Given the description of an element on the screen output the (x, y) to click on. 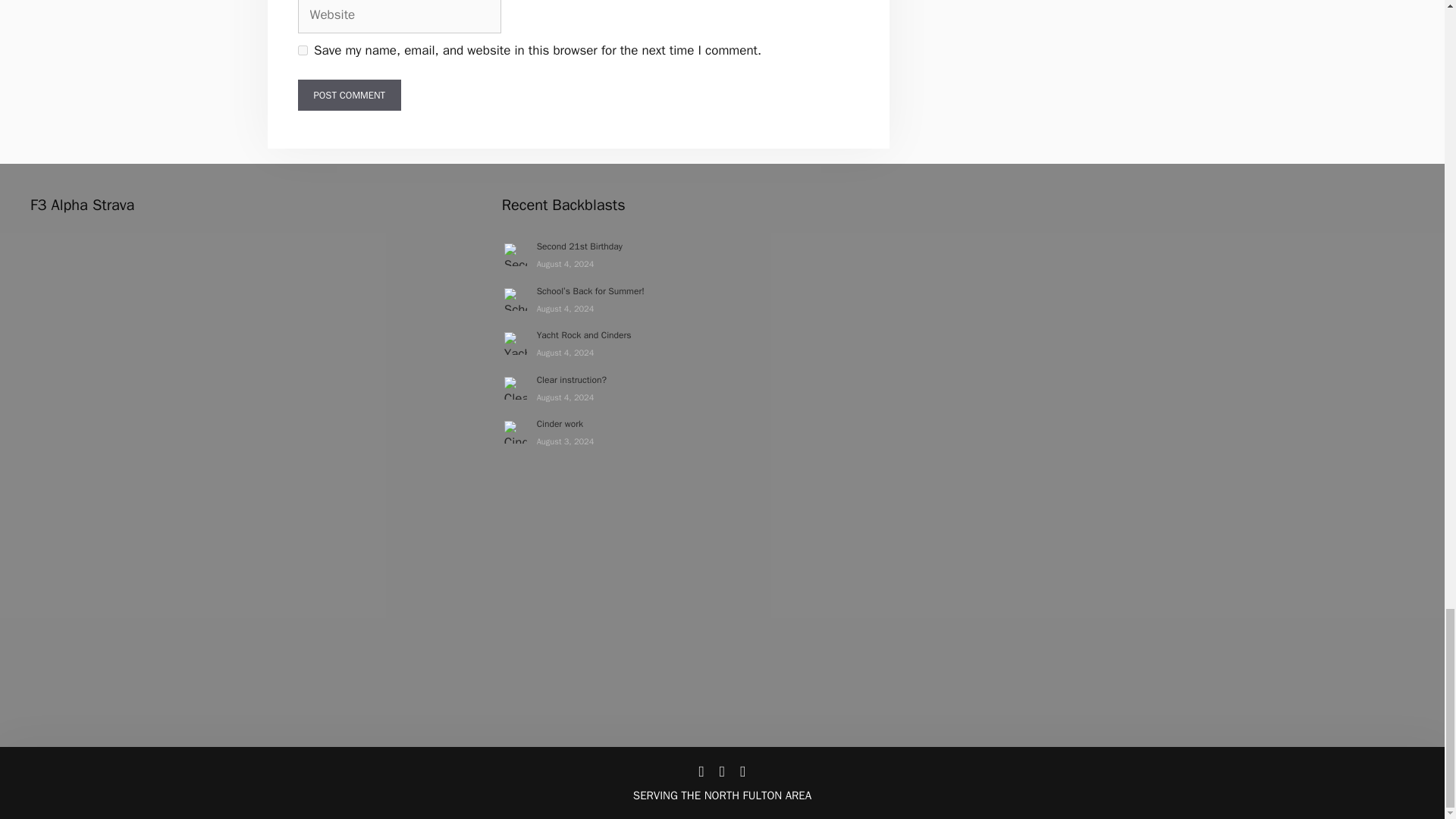
Post Comment (349, 95)
yes (302, 50)
Post Comment (349, 95)
